Given the description of an element on the screen output the (x, y) to click on. 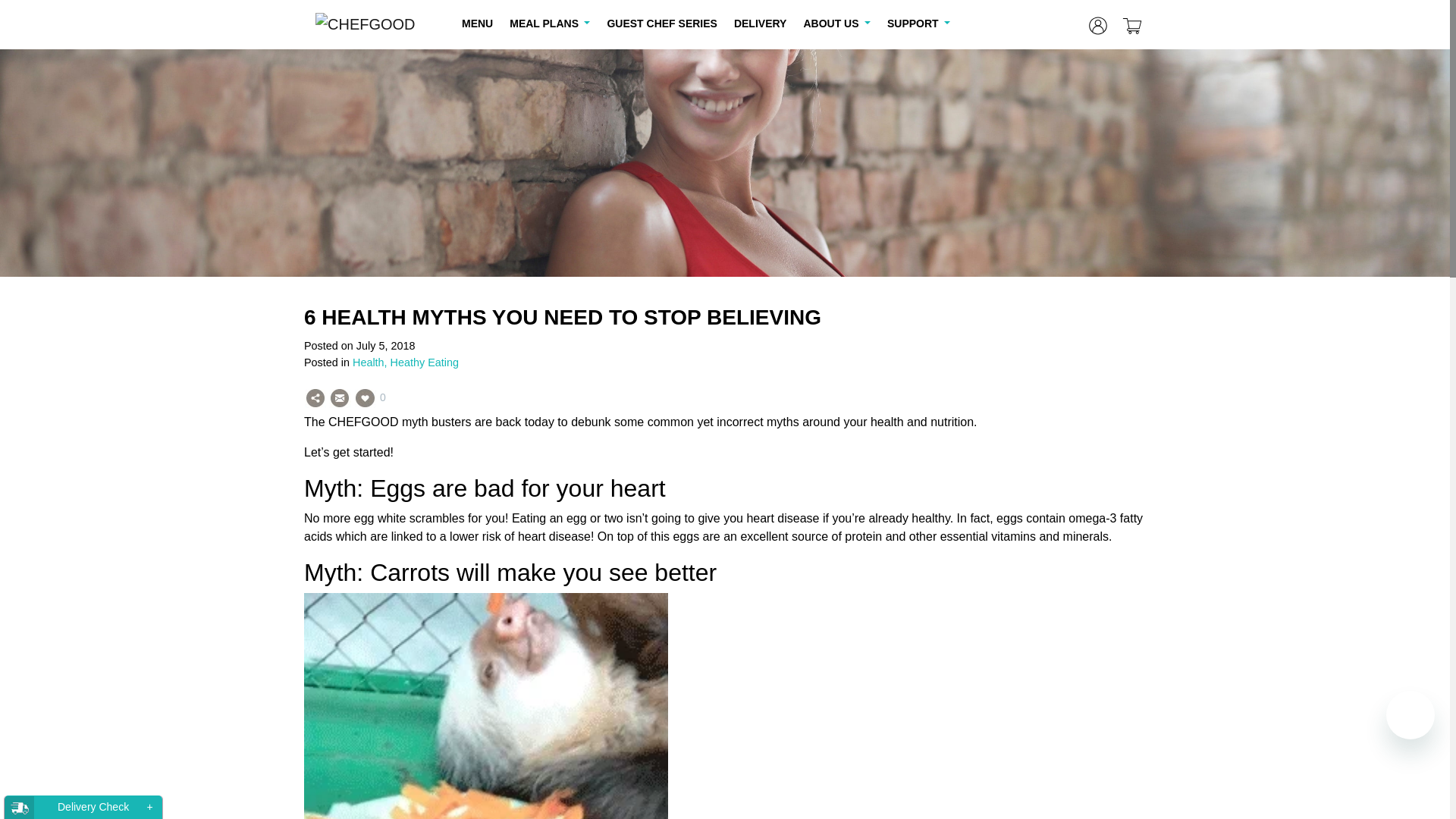
About Us (836, 23)
ABOUT US (836, 23)
Guest Chef Series (660, 23)
DELIVERY (760, 23)
SUPPORT (918, 23)
GUEST CHEF SERIES (660, 23)
MENU (477, 23)
Menu (477, 23)
Meal Plans (549, 23)
Delivery (760, 23)
MEAL PLANS (549, 23)
